Given the description of an element on the screen output the (x, y) to click on. 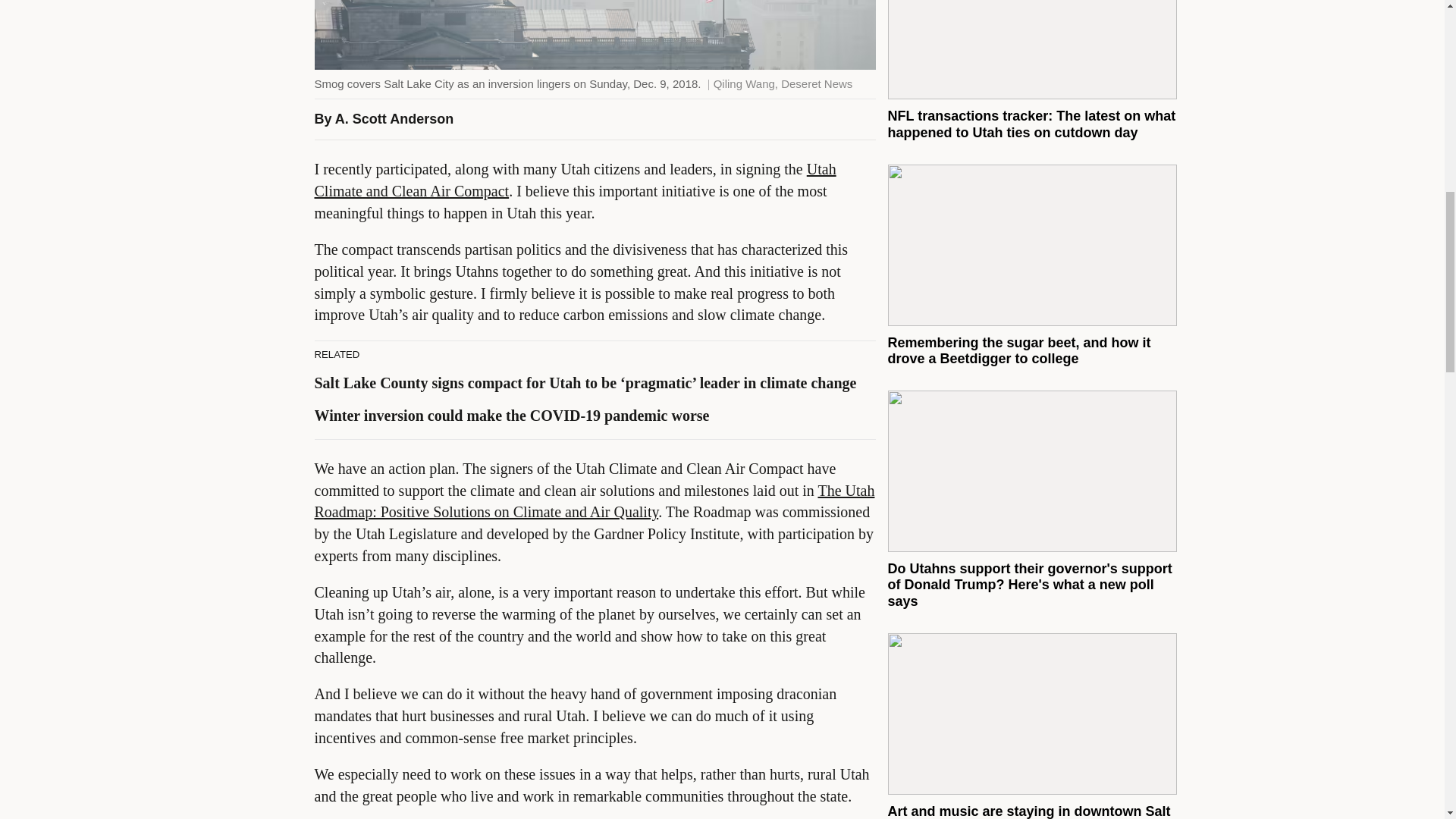
Winter inversion could make the COVID-19 pandemic worse (511, 415)
Utah Climate and Clean Air Compact (574, 179)
A. Scott Anderson (393, 118)
